Given the description of an element on the screen output the (x, y) to click on. 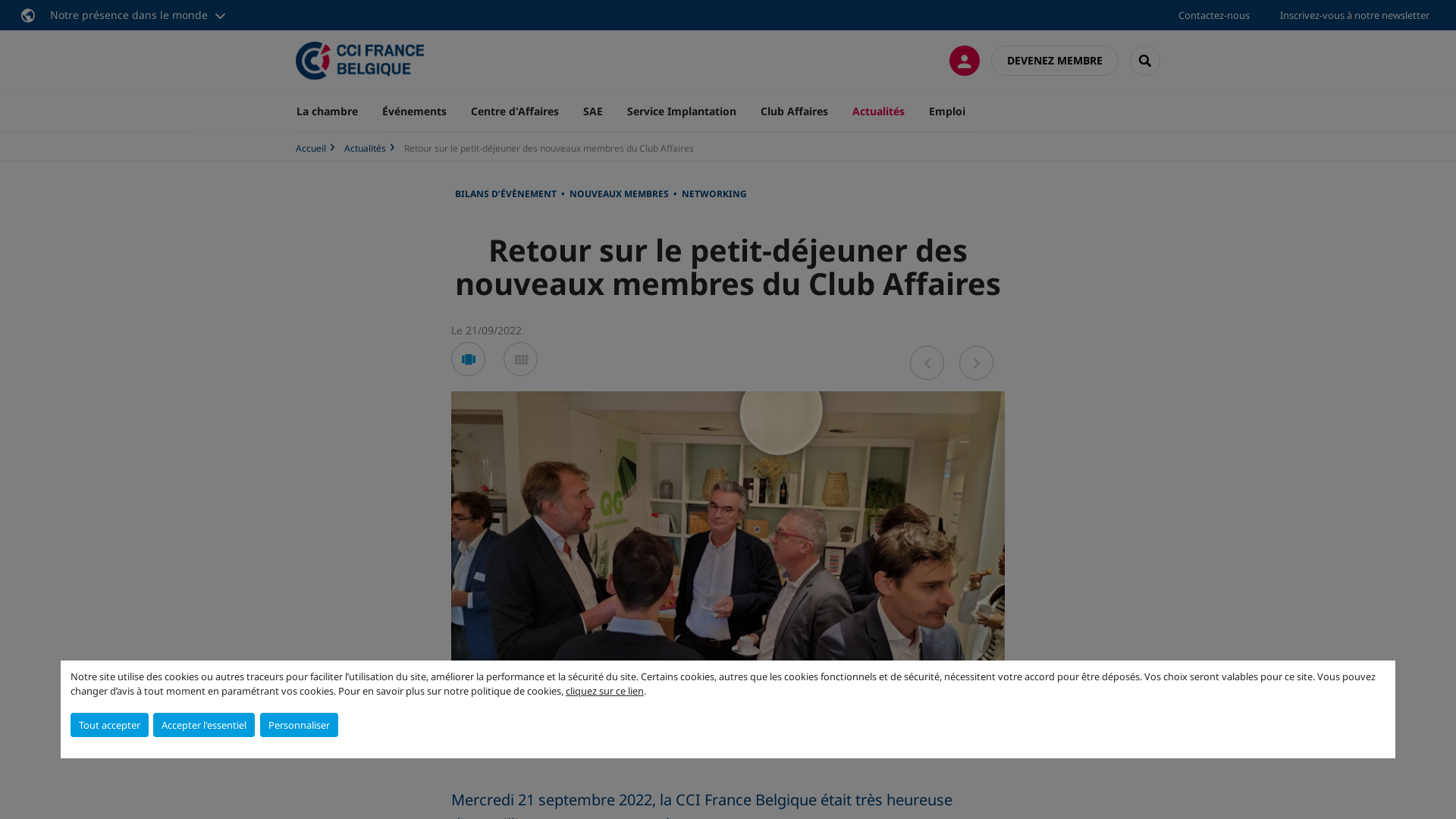
SAE Element type: text (593, 111)
CONNEXION Element type: text (964, 60)
Accueil Element type: text (310, 147)
Centre d'Affaires Element type: text (514, 111)
RECHERCHER Element type: text (1144, 60)
Personnaliser Element type: text (299, 724)
1 / 4 Element type: text (727, 742)
Tout accepter Element type: text (109, 724)
cliquez sur ce lien Element type: text (604, 690)
Next Element type: text (976, 362)
Voir en mode carousel Element type: text (468, 359)
Contactez-nous Element type: text (1213, 15)
Club Affaires Element type: text (794, 111)
La chambre Element type: text (332, 111)
Service Implantation Element type: text (681, 111)
Accepter l'essentiel Element type: text (203, 724)
DEVENEZ MEMBRE Element type: text (1054, 60)
Previous Element type: text (927, 362)
Emploi Element type: text (946, 111)
